Given the description of an element on the screen output the (x, y) to click on. 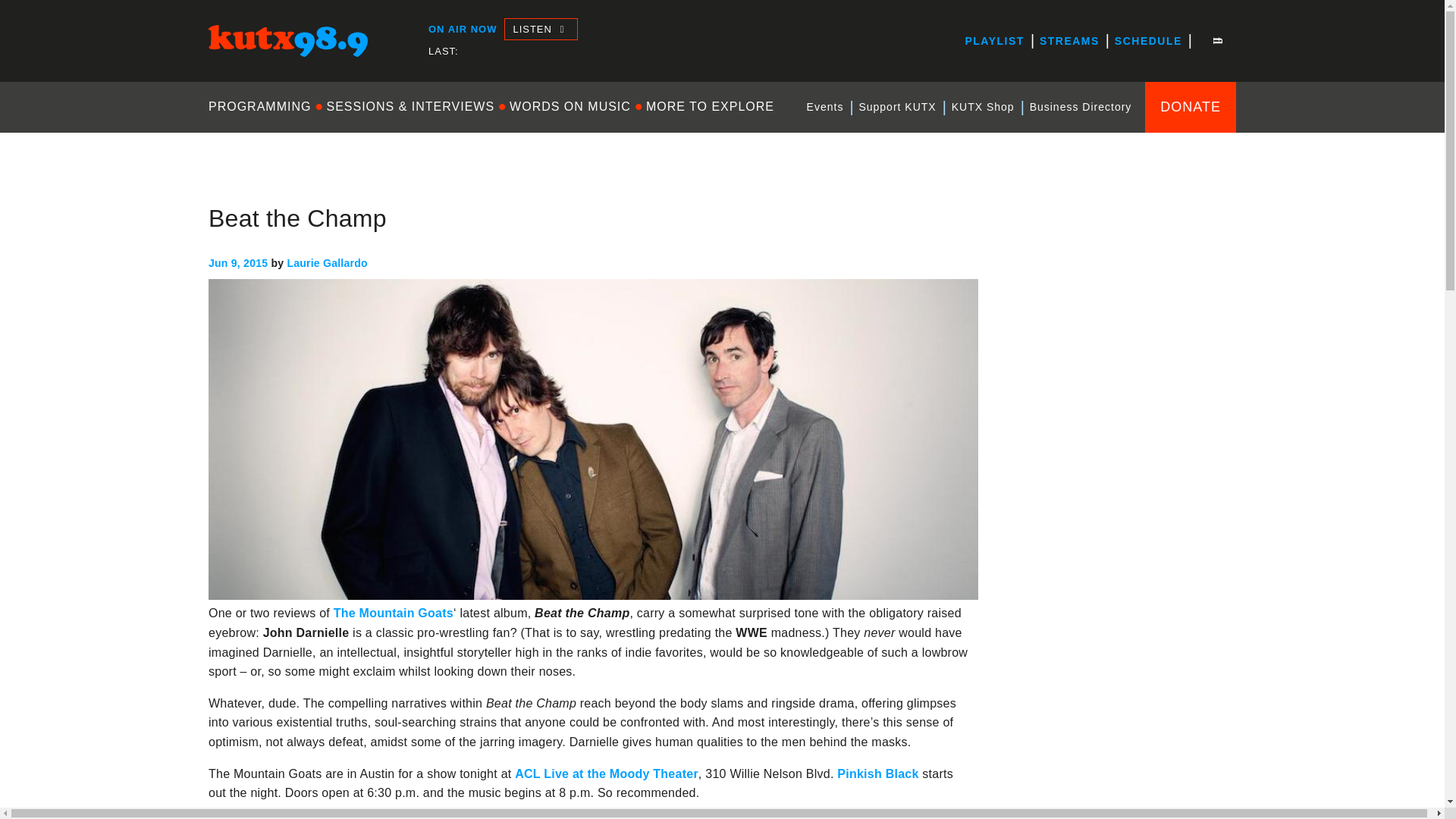
KUTX (224, 69)
DONATE (1190, 106)
STREAMS (1069, 40)
SCHEDULE (1147, 40)
MORE TO EXPLORE (710, 106)
PROGRAMMING (263, 106)
WORDS ON MUSIC (570, 106)
Events (825, 106)
Business Directory (1081, 106)
LISTEN (539, 29)
KUTX Shop (982, 106)
PLAYLIST (993, 40)
Support KUTX (896, 106)
